Given the description of an element on the screen output the (x, y) to click on. 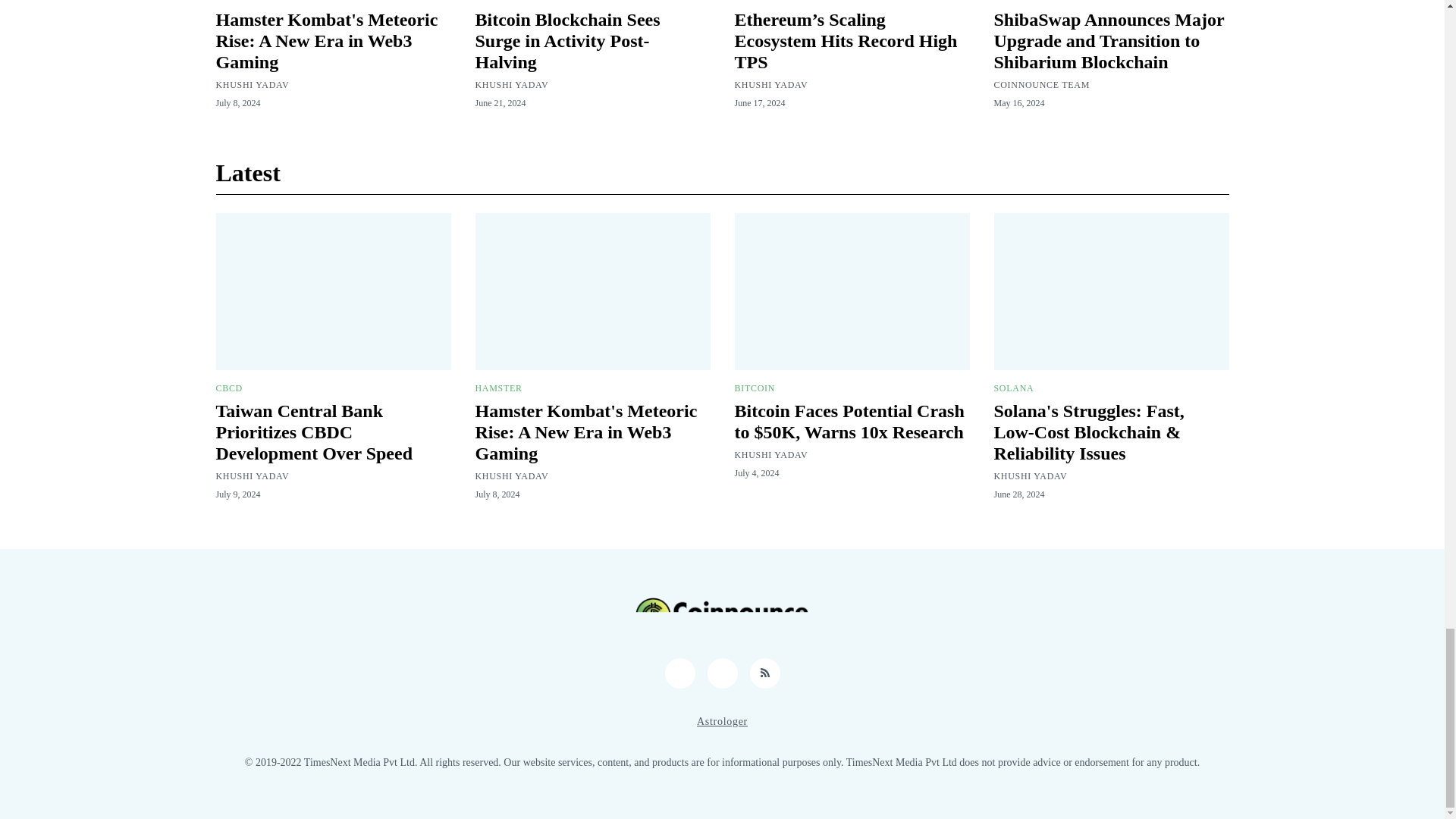
HAMSTER (238, 1)
Hamster Kombat's Meteoric Rise: A New Era in Web3 Gaming (326, 40)
BITCOIN HALVING (518, 1)
BLOCKCHAIN (1025, 1)
KHUSHI YADAV (770, 84)
ETHEREUM NEWS (775, 1)
KHUSHI YADAV (251, 84)
KHUSHI YADAV (511, 84)
Bitcoin Blockchain Sees Surge in Activity Post-Halving (566, 40)
